Given the description of an element on the screen output the (x, y) to click on. 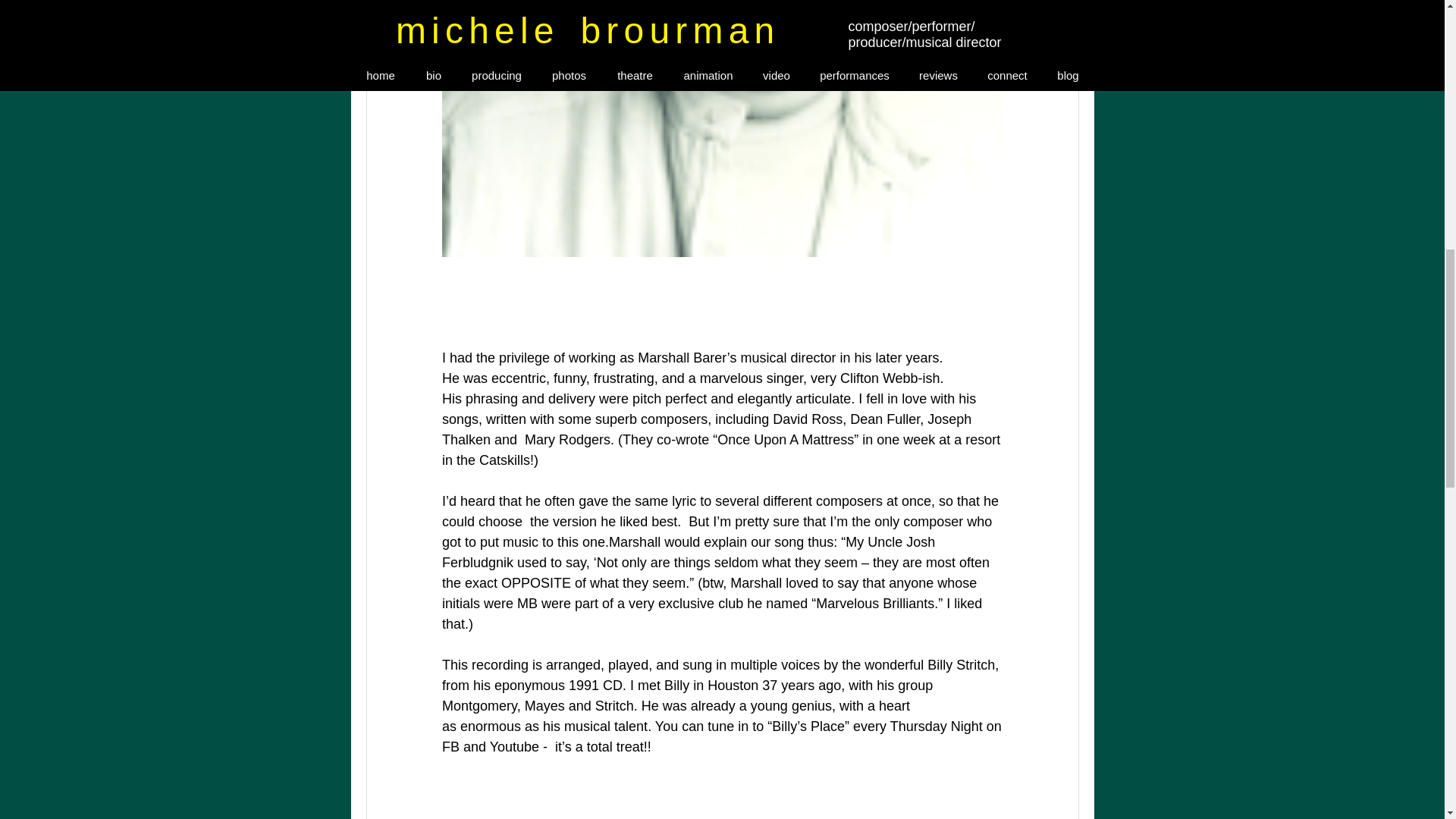
ricos-video (722, 809)
